Given the description of an element on the screen output the (x, y) to click on. 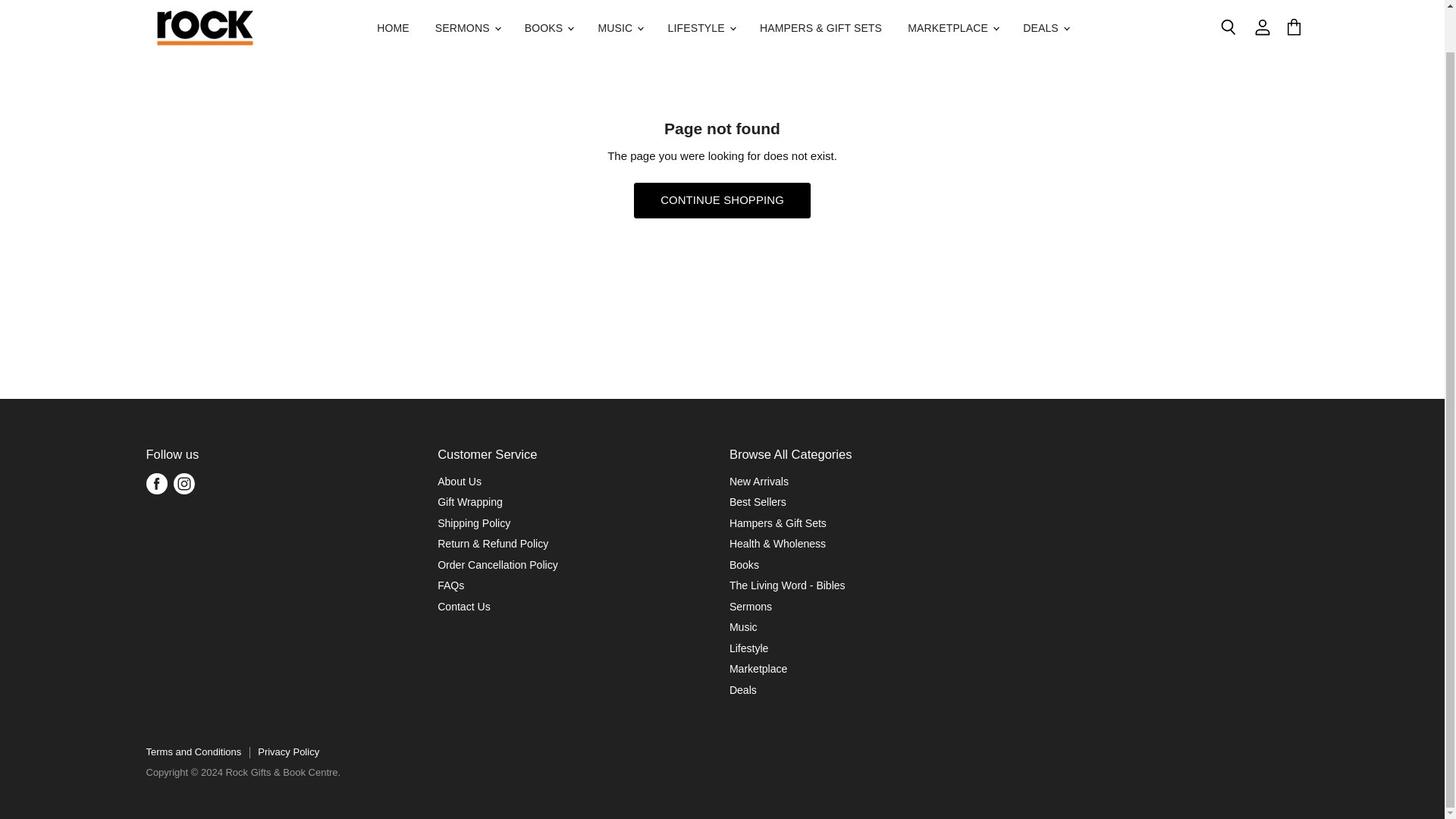
BOOKS (548, 20)
Facebook (156, 483)
SERMONS (467, 20)
MUSIC (619, 20)
Instagram (183, 483)
HOME (392, 20)
